Given the description of an element on the screen output the (x, y) to click on. 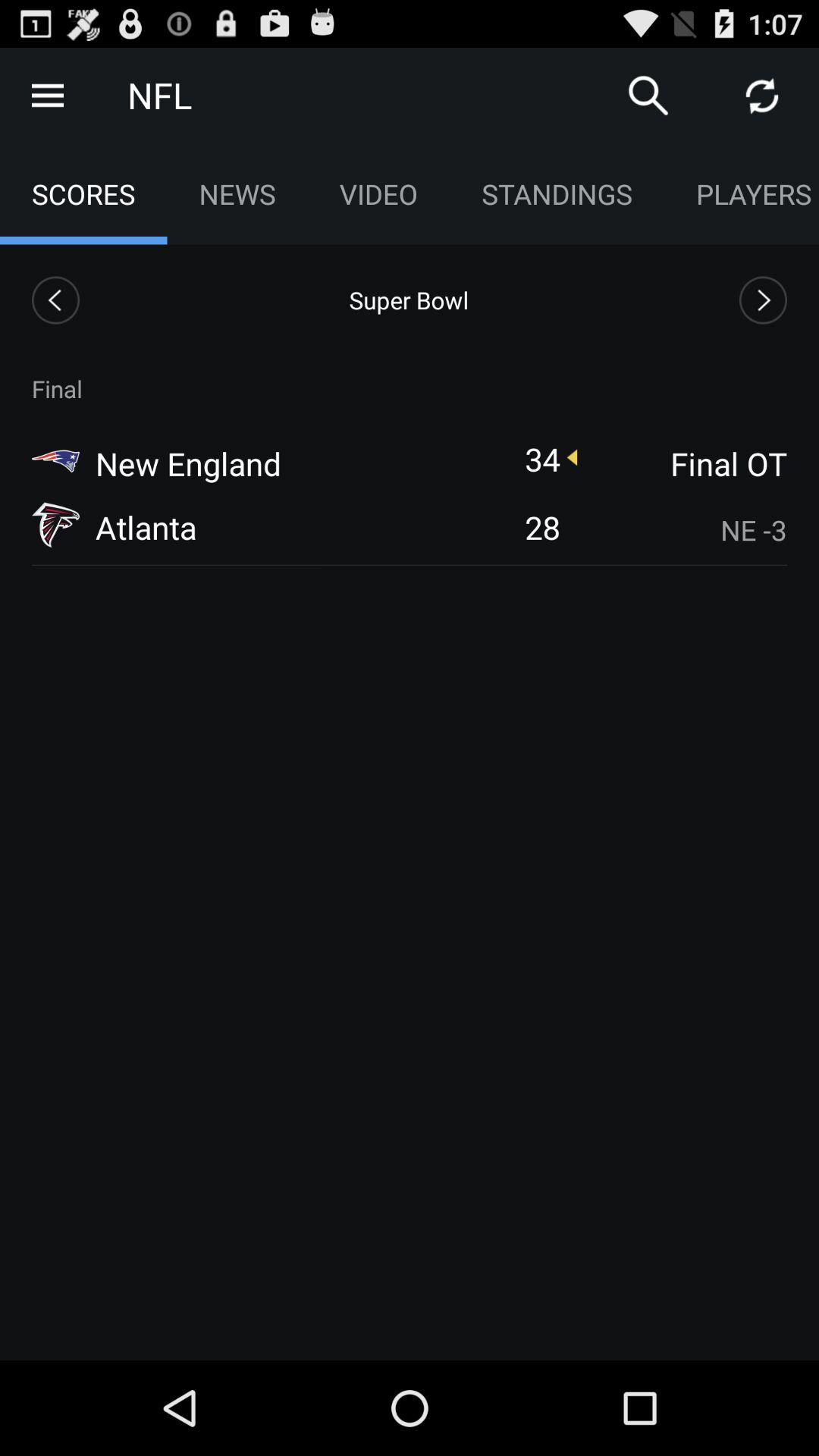
turn on the icon below final ot (683, 529)
